Given the description of an element on the screen output the (x, y) to click on. 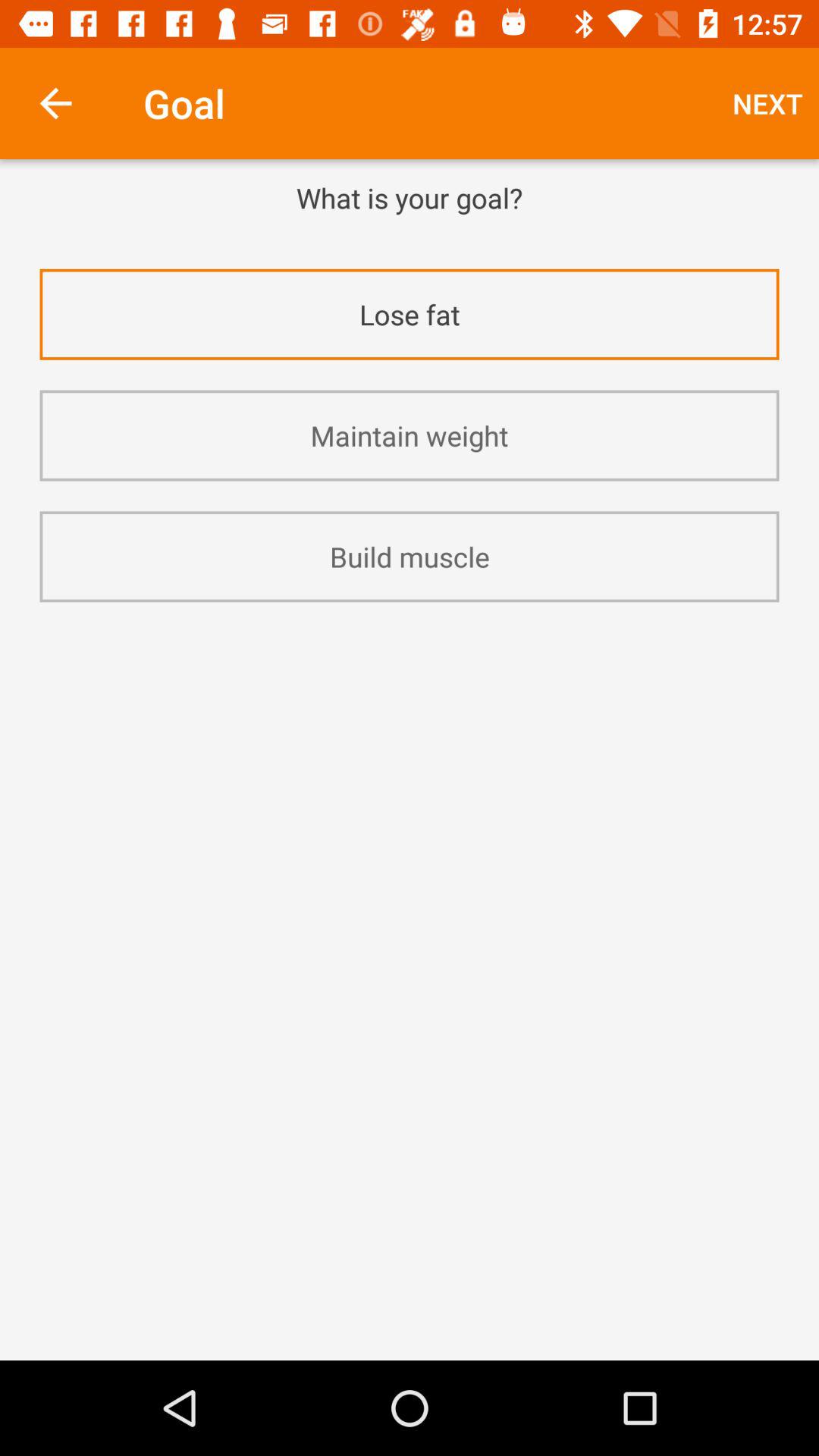
scroll until next icon (767, 103)
